Given the description of an element on the screen output the (x, y) to click on. 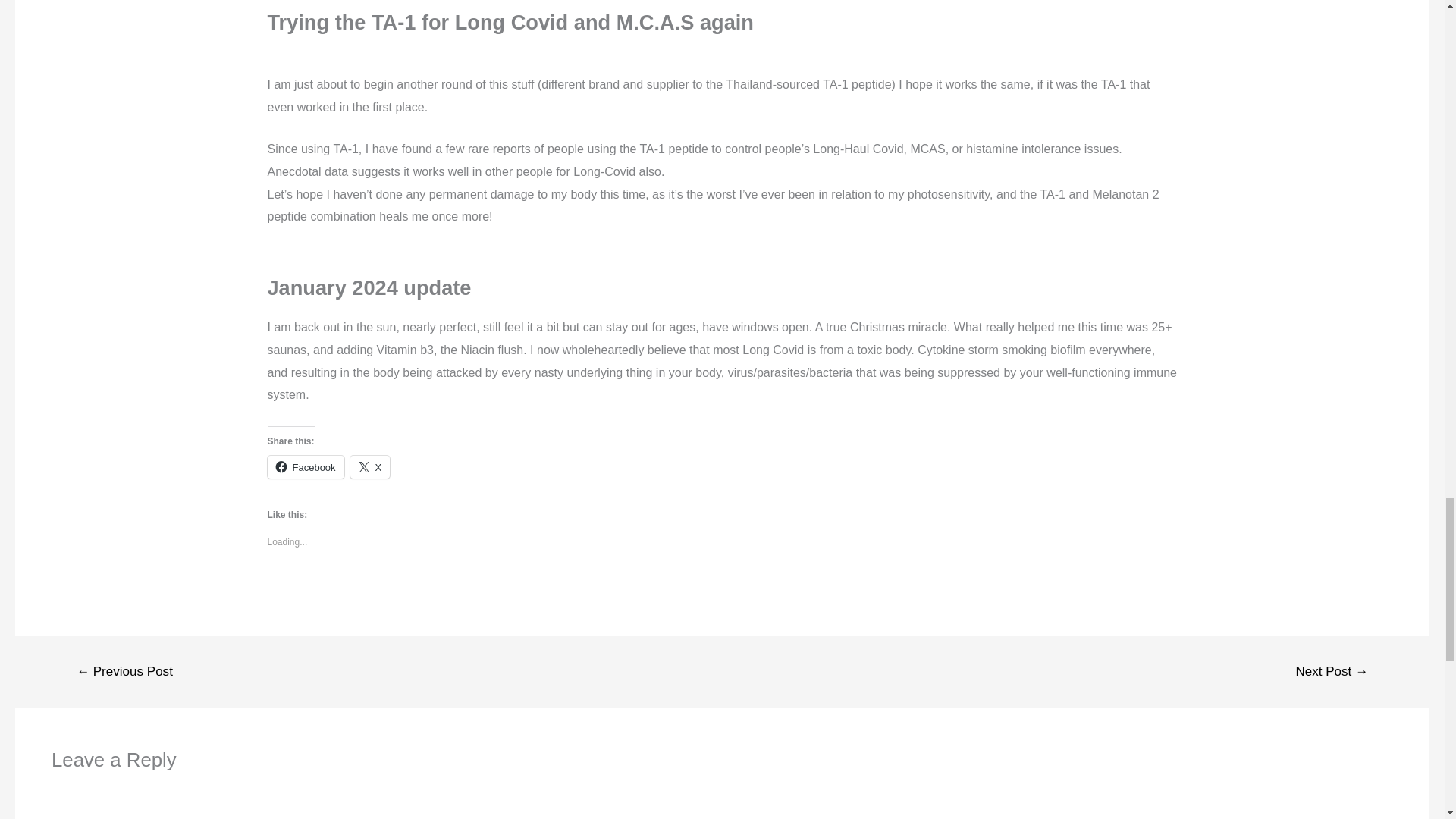
Comment Form (721, 797)
Click to share on X (370, 466)
Click to share on Facebook (304, 466)
